Given the description of an element on the screen output the (x, y) to click on. 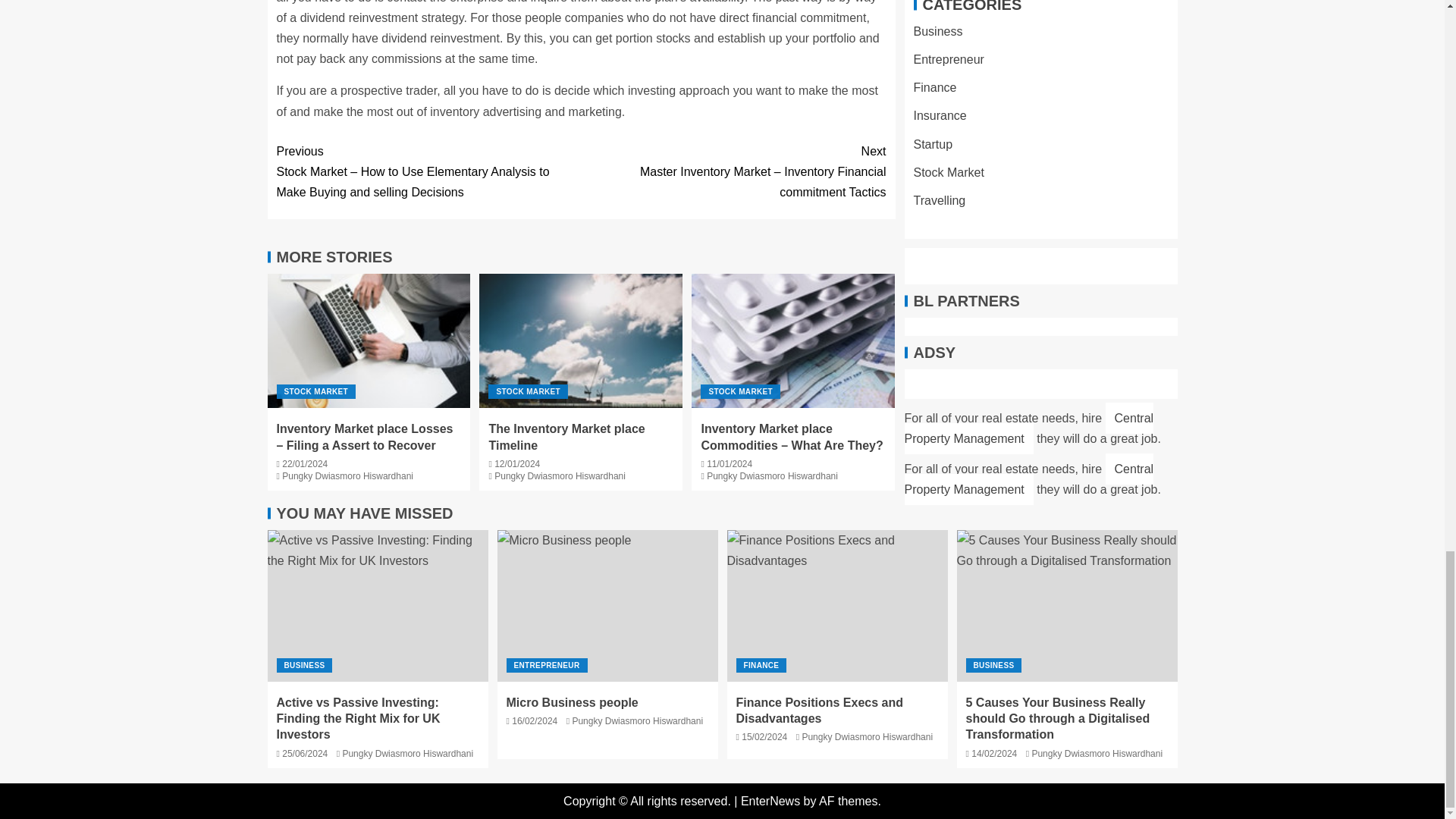
STOCK MARKET (527, 391)
The Inventory Market place Timeline (566, 436)
Pungky Dwiasmoro Hiswardhani (772, 475)
STOCK MARKET (740, 391)
Pungky Dwiasmoro Hiswardhani (560, 475)
Pungky Dwiasmoro Hiswardhani (347, 475)
STOCK MARKET (315, 391)
